Given the description of an element on the screen output the (x, y) to click on. 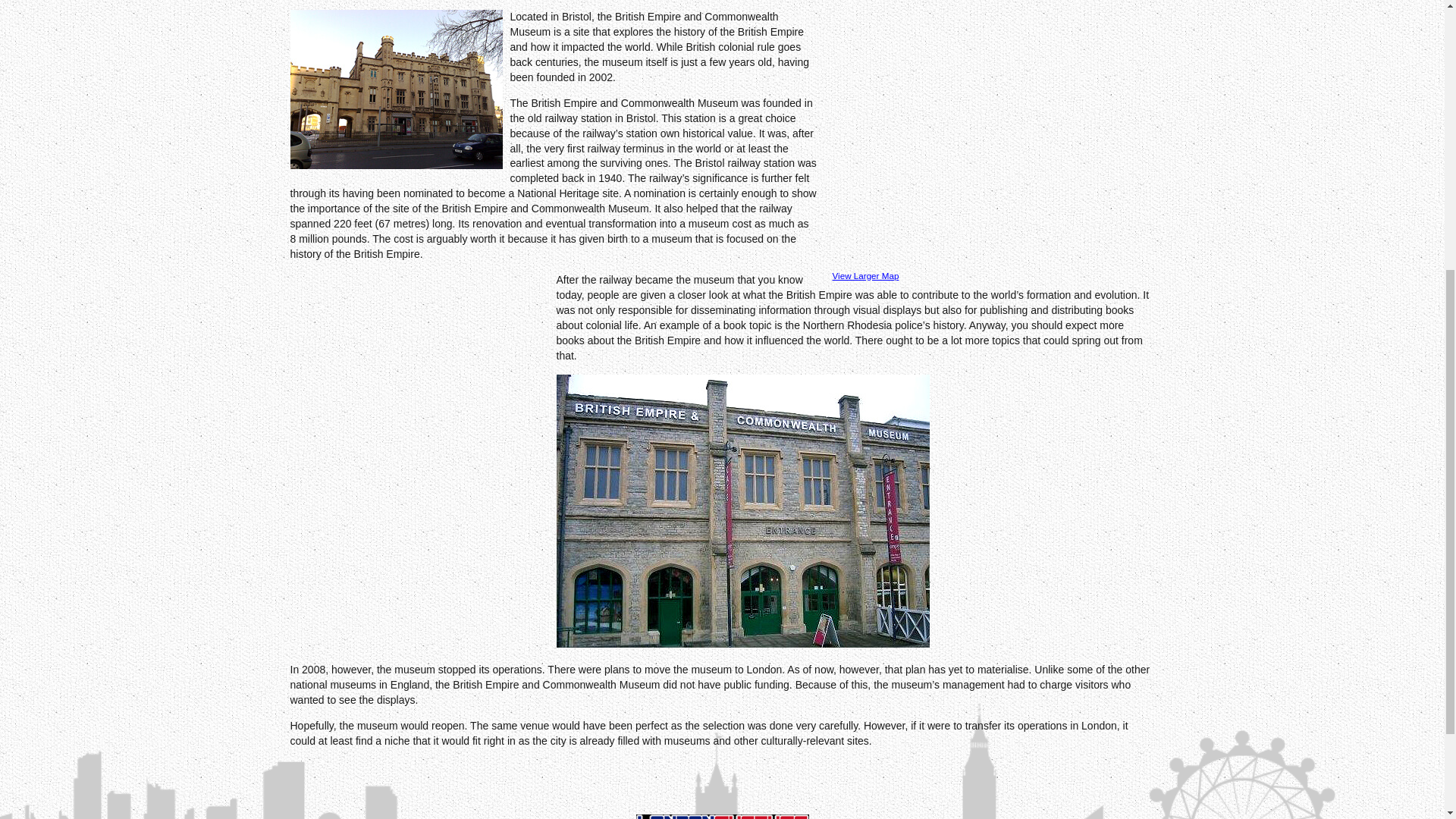
Advertisement (416, 384)
